Given the description of an element on the screen output the (x, y) to click on. 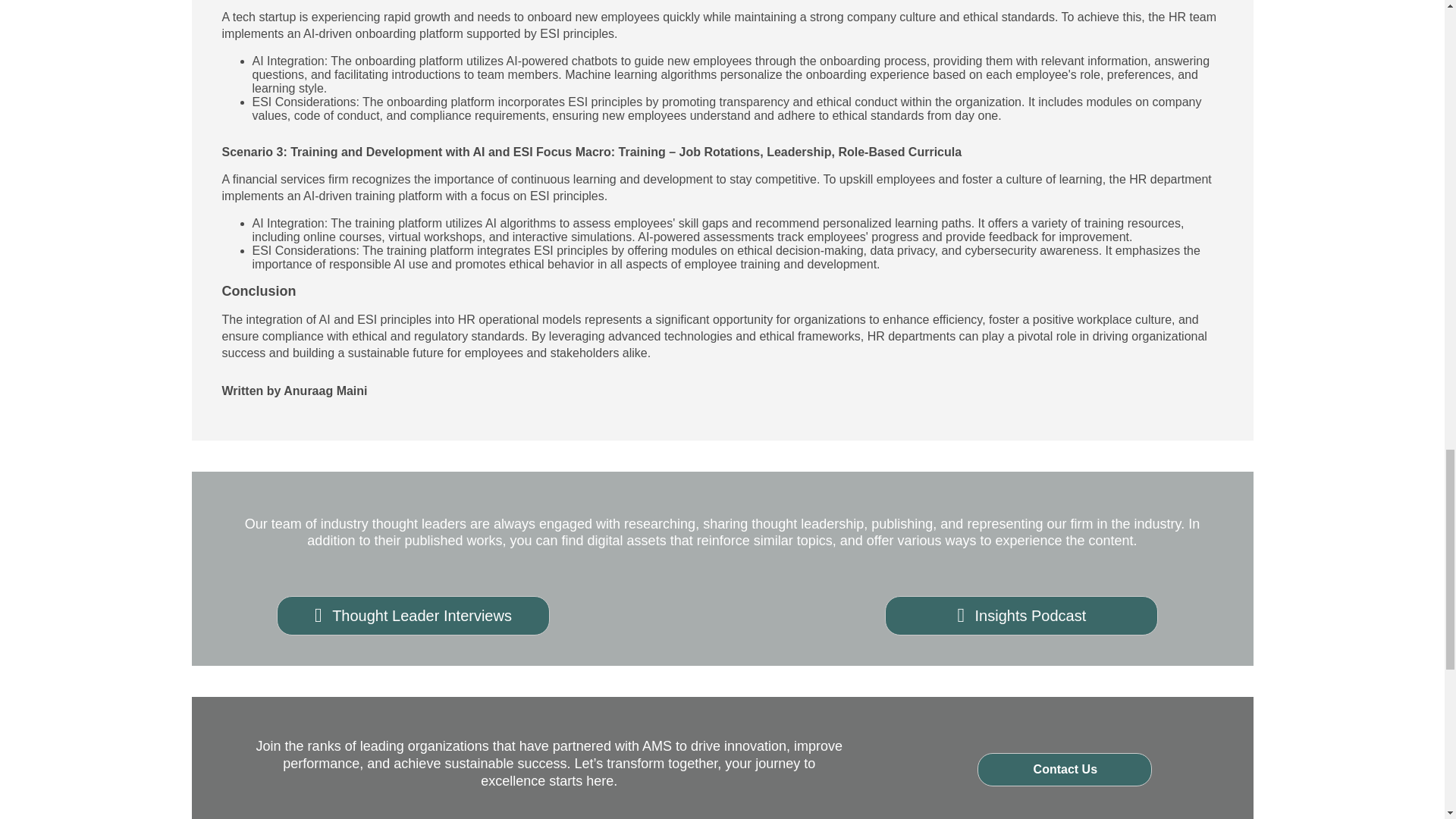
Contact Us (1063, 769)
Thought Leader Interviews (412, 615)
Insights Podcast (1021, 615)
